Given the description of an element on the screen output the (x, y) to click on. 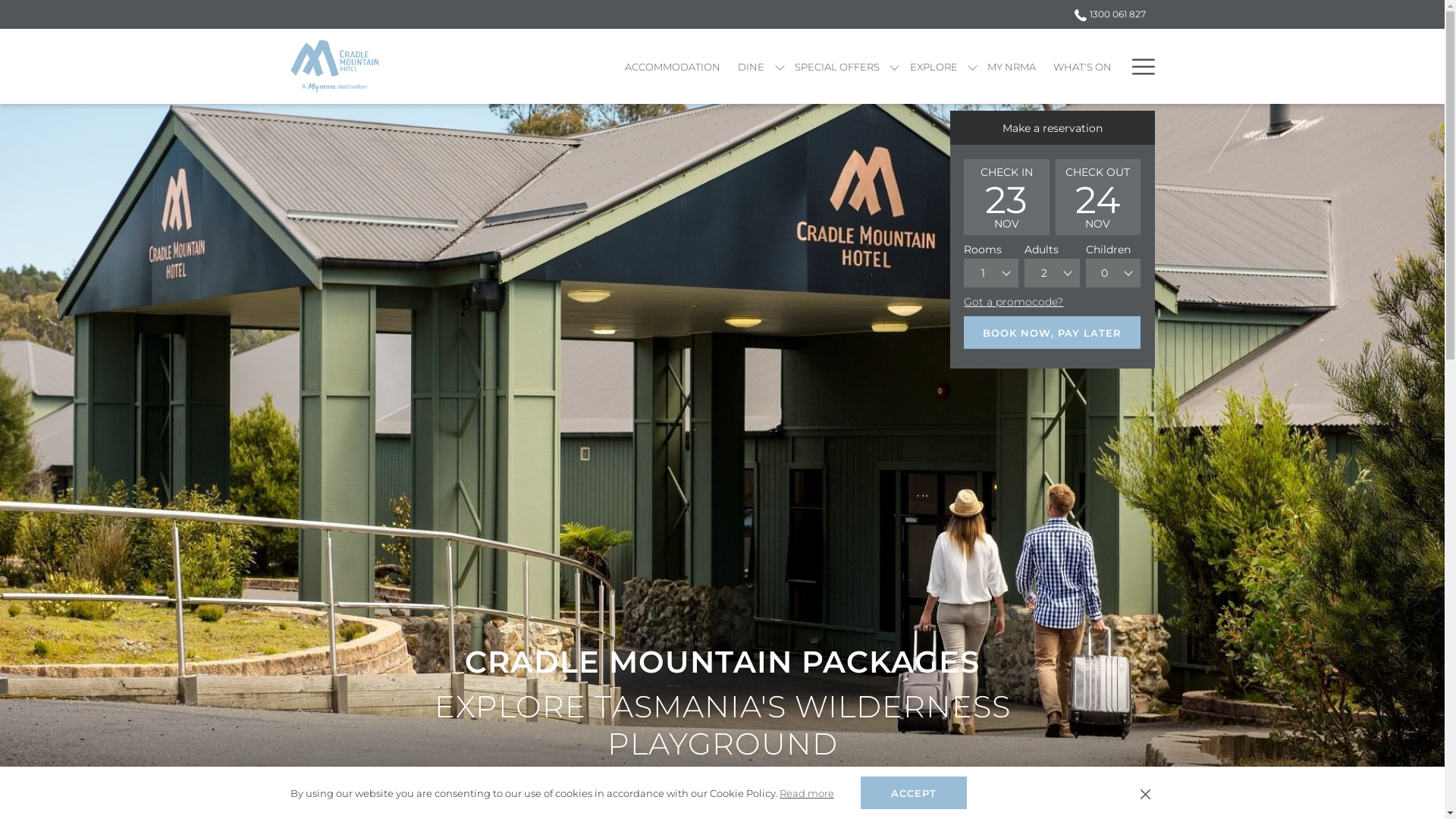
Back to the homepage Element type: hover (333, 66)
ACCEPT Element type: text (913, 792)
WHAT'S ON Element type: text (1082, 66)
ACCOMMODATION Element type: text (672, 66)
More link
Menu Element type: text (1137, 66)
SPECIAL OFFERS Element type: text (836, 66)
DINE Element type: text (751, 66)
1300 061 827 Element type: text (1105, 13)
BOOK NOW, PAY LATER
OPENS IN A NEW TAB Element type: text (1051, 332)
MY NRMA Element type: text (1011, 66)
Read more Element type: text (807, 792)
Got a promocode? Element type: text (1013, 301)
EXPLORE Element type: text (933, 66)
